Given the description of an element on the screen output the (x, y) to click on. 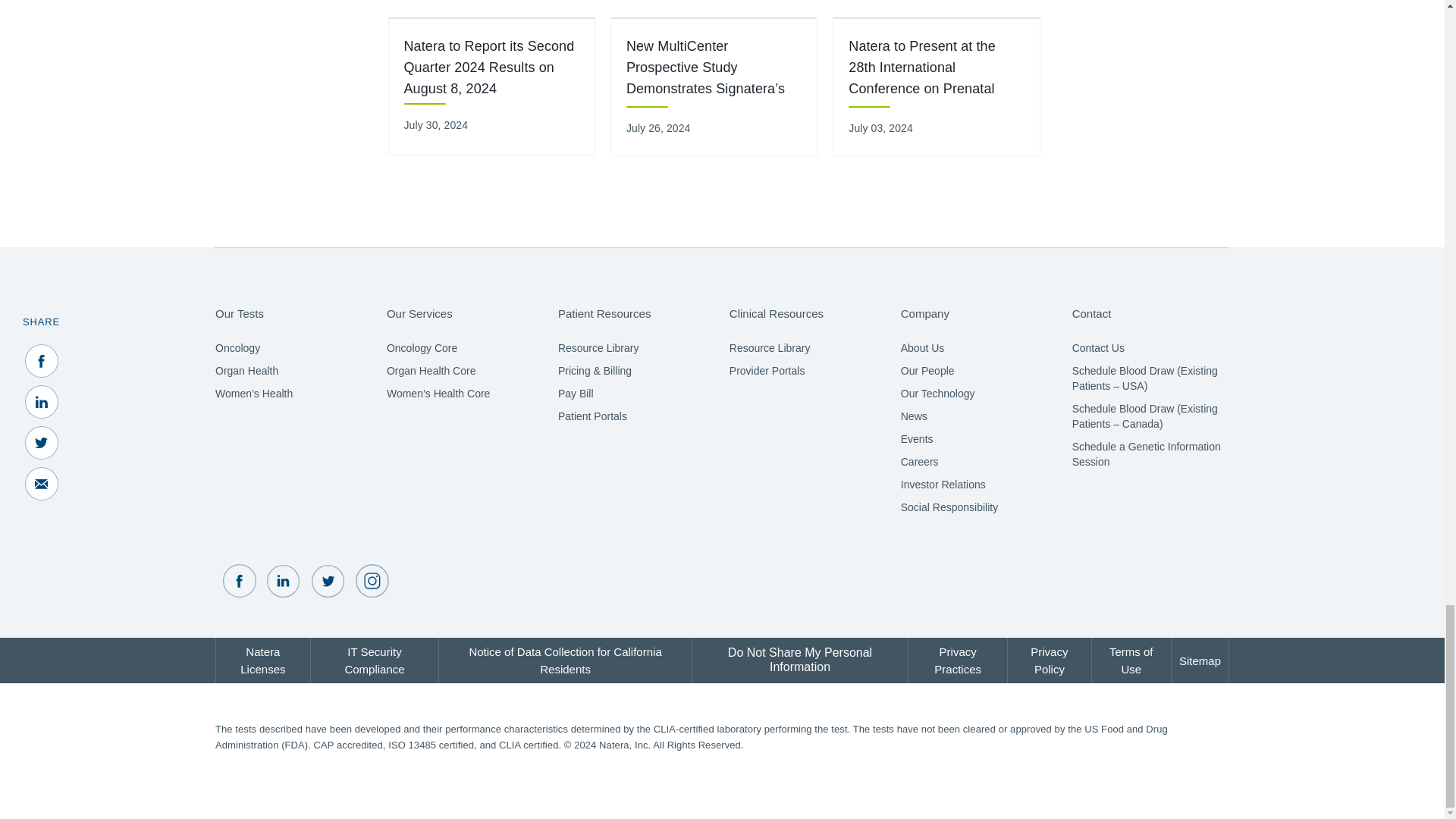
Link to Facebook page (239, 581)
Link to LinkedIn page (282, 582)
Link to Twitter page (328, 582)
Link to Instagram page (371, 581)
